Given the description of an element on the screen output the (x, y) to click on. 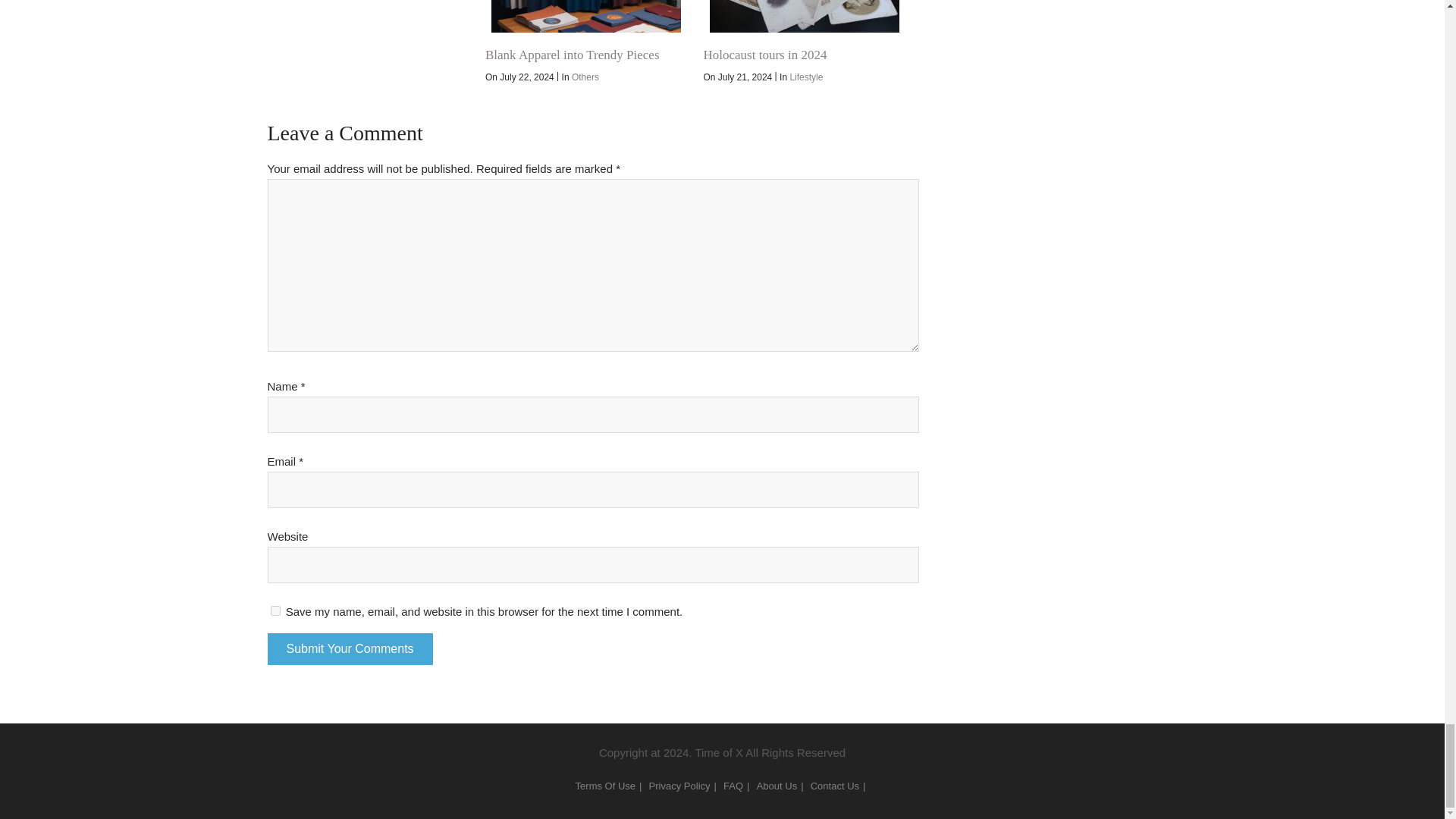
Lifestyle (805, 77)
Holocaust tours in 2024 (804, 16)
Submit Your Comments (349, 649)
Others (585, 77)
Submit Your Comments (349, 649)
yes (274, 610)
Blank Apparel into Trendy Pieces (585, 16)
Blank Apparel into Trendy Pieces (571, 54)
Holocaust tours in 2024 (765, 54)
